Given the description of an element on the screen output the (x, y) to click on. 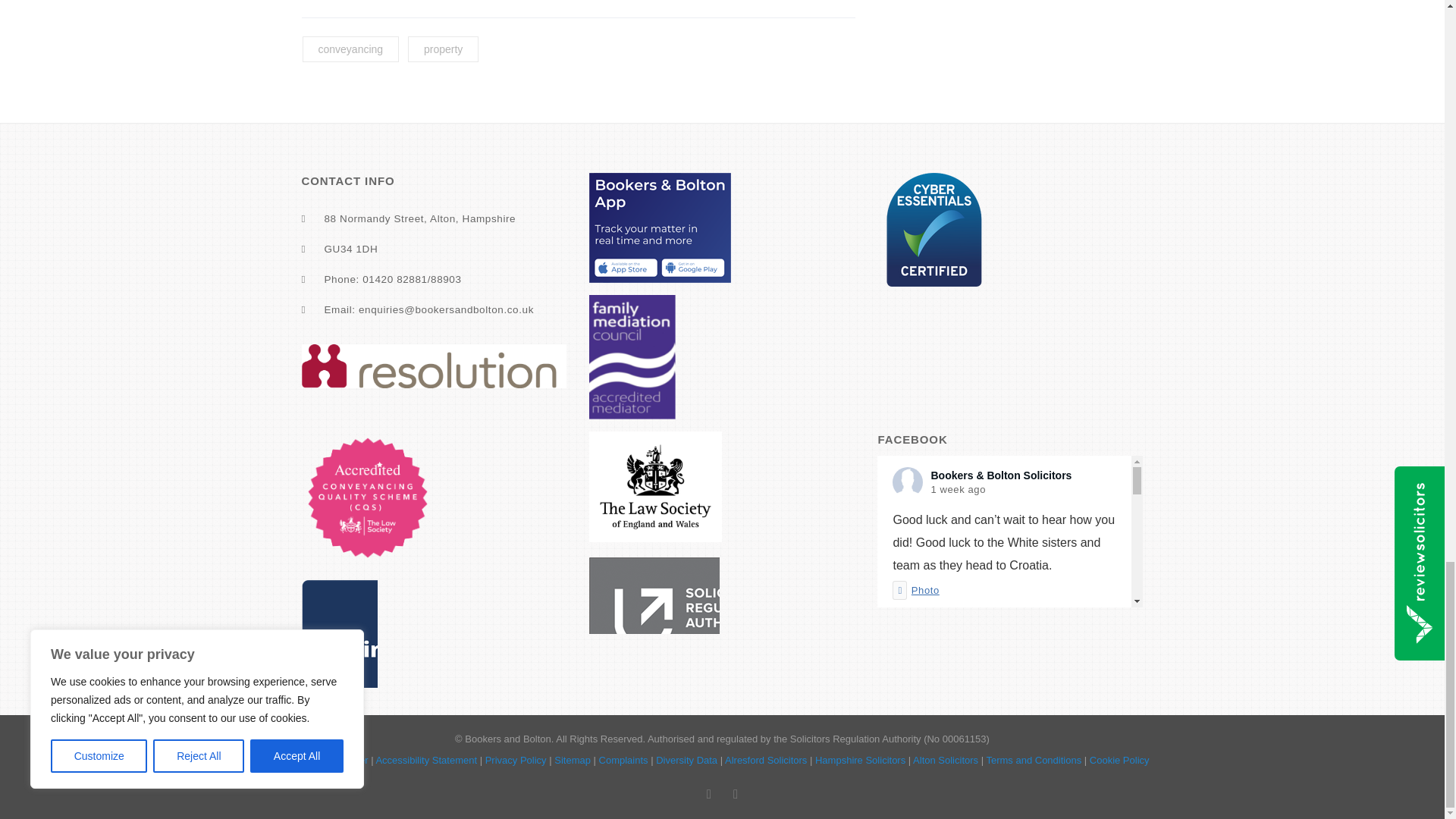
Share (986, 614)
View on Facebook (926, 775)
View on Facebook (926, 614)
Share (986, 775)
